Given the description of an element on the screen output the (x, y) to click on. 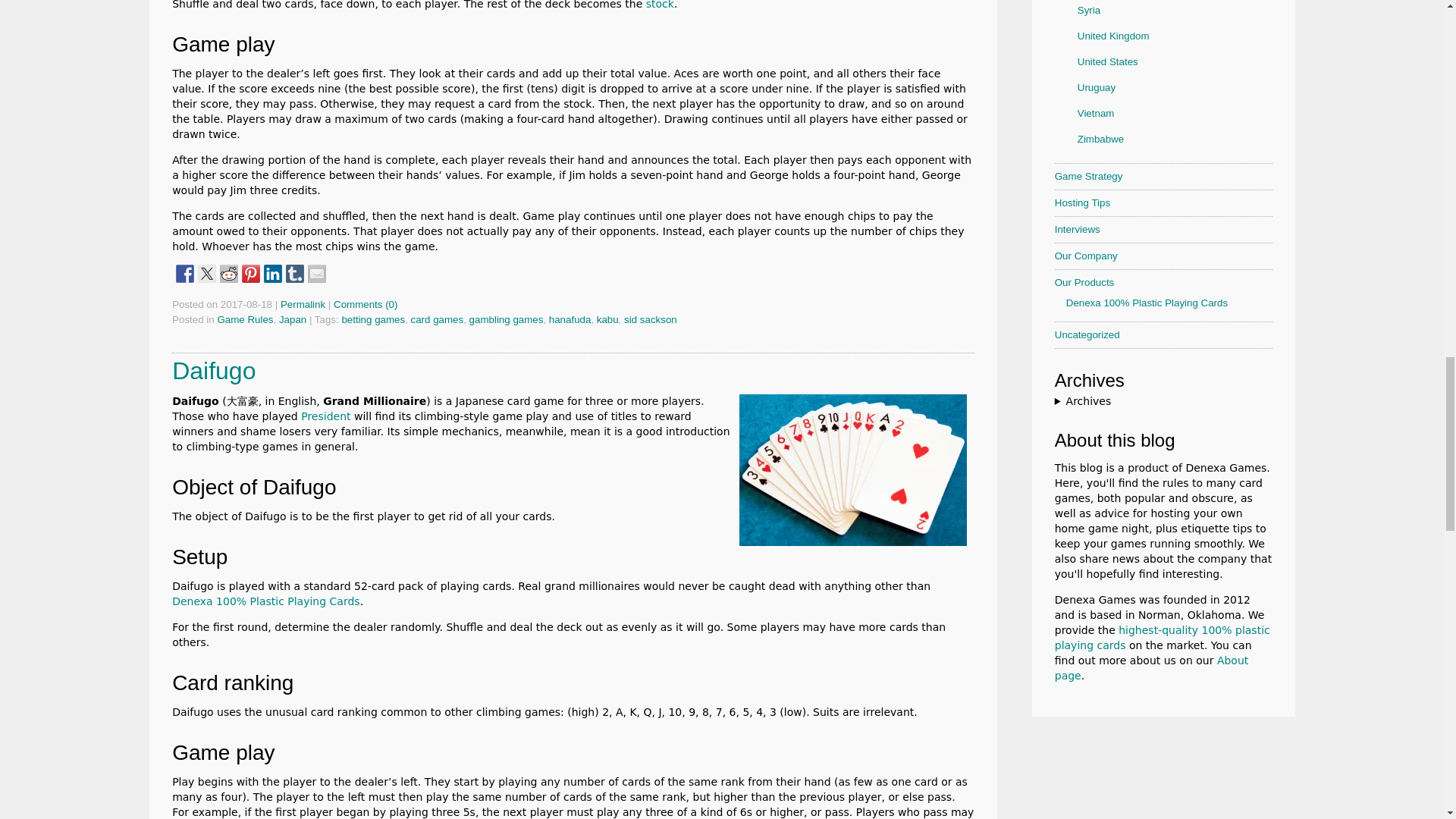
stock (660, 4)
